Given the description of an element on the screen output the (x, y) to click on. 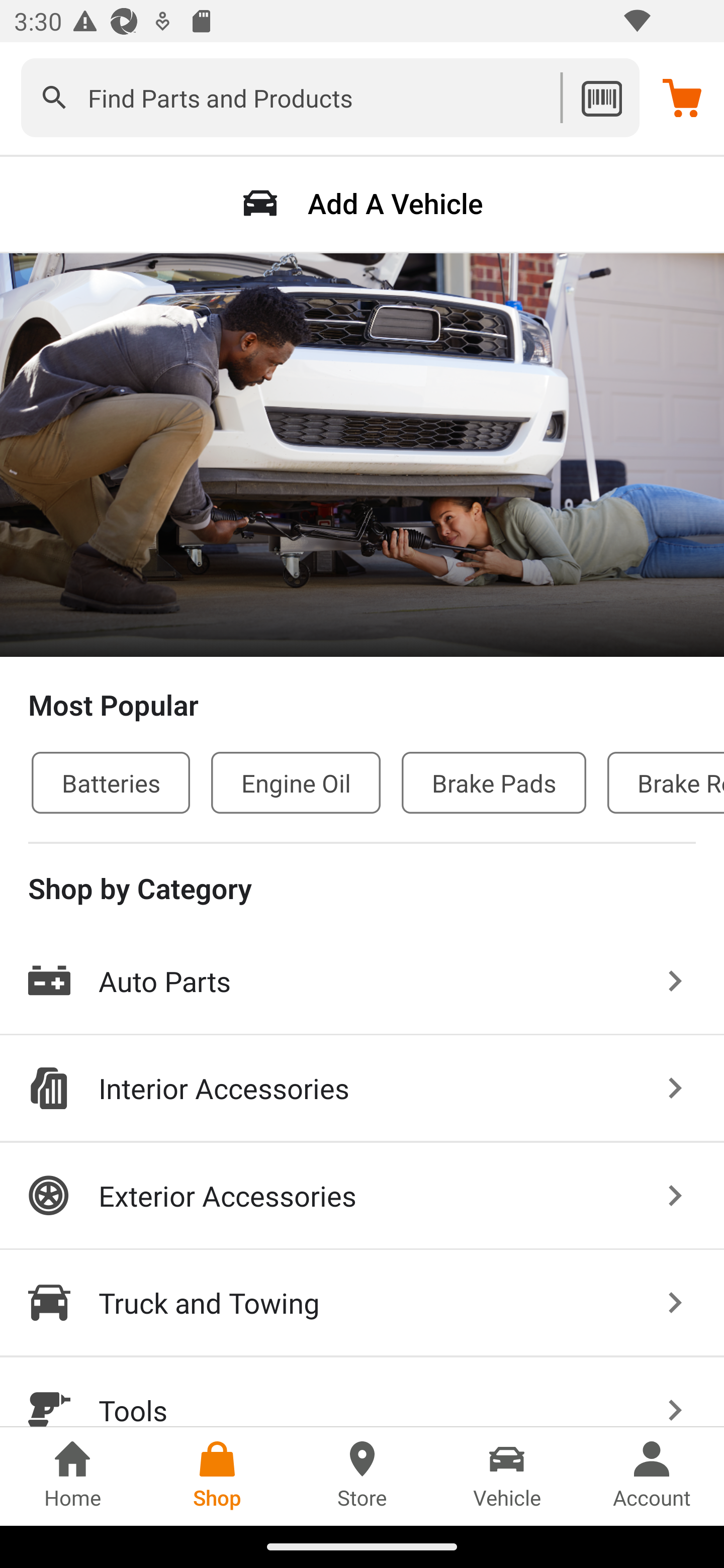
 scan-product-to-search  (601, 97)
 (54, 97)
Cart, no items  (681, 97)
add-vehicle-button  Add A Vehicle (362, 202)
Batteries (110, 782)
Engine Oil (295, 782)
Brake Pads (493, 782)
Brake Rotors (665, 782)
Auto Parts category  Auto Parts  (362, 981)
Truck and Towing category  Truck and Towing  (362, 1303)
Tools category  Tools  (362, 1391)
Home (72, 1475)
Shop (216, 1475)
Store (361, 1475)
Vehicle (506, 1475)
Account (651, 1475)
